Given the description of an element on the screen output the (x, y) to click on. 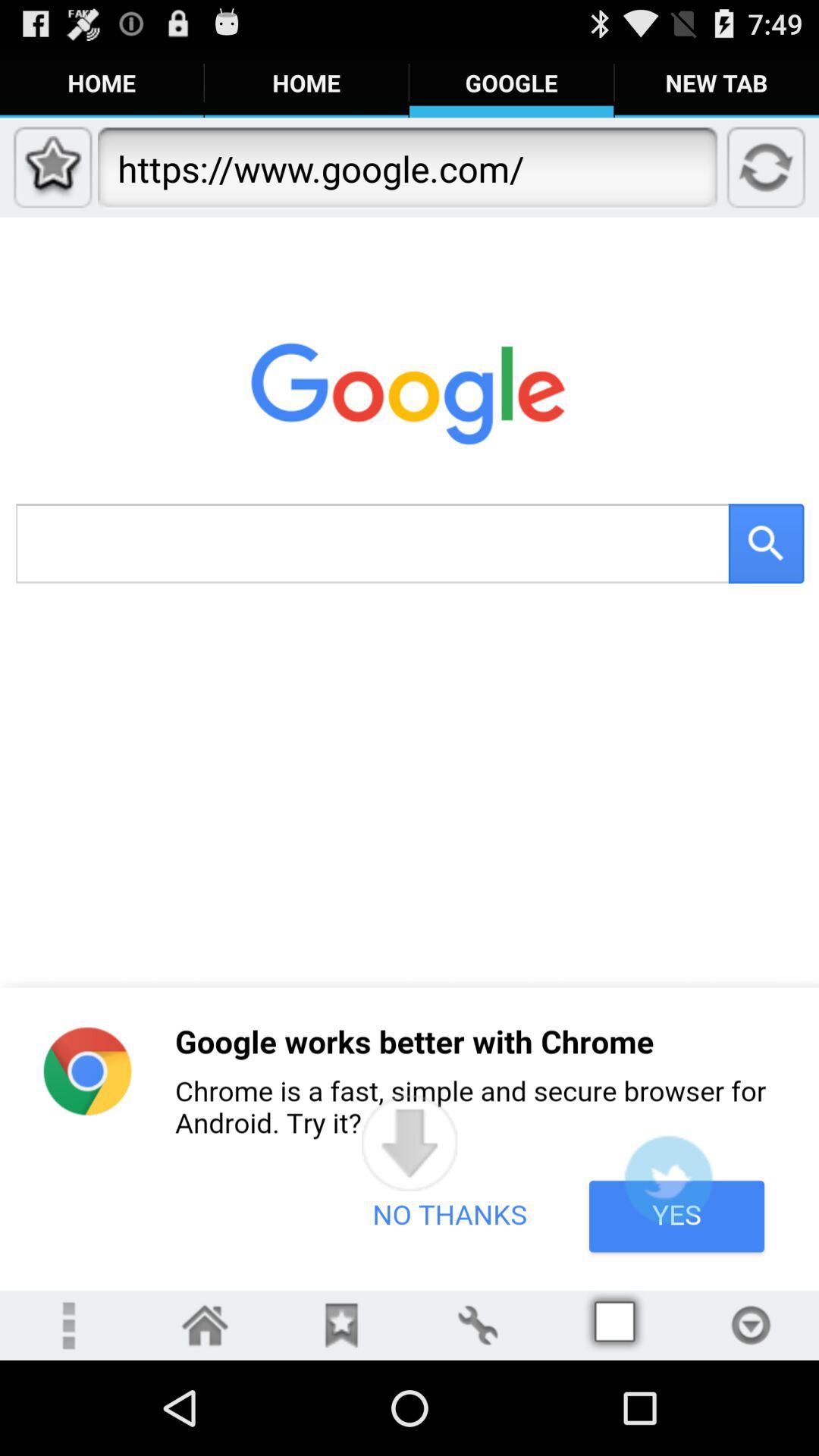
bookmarks (341, 1325)
